Given the description of an element on the screen output the (x, y) to click on. 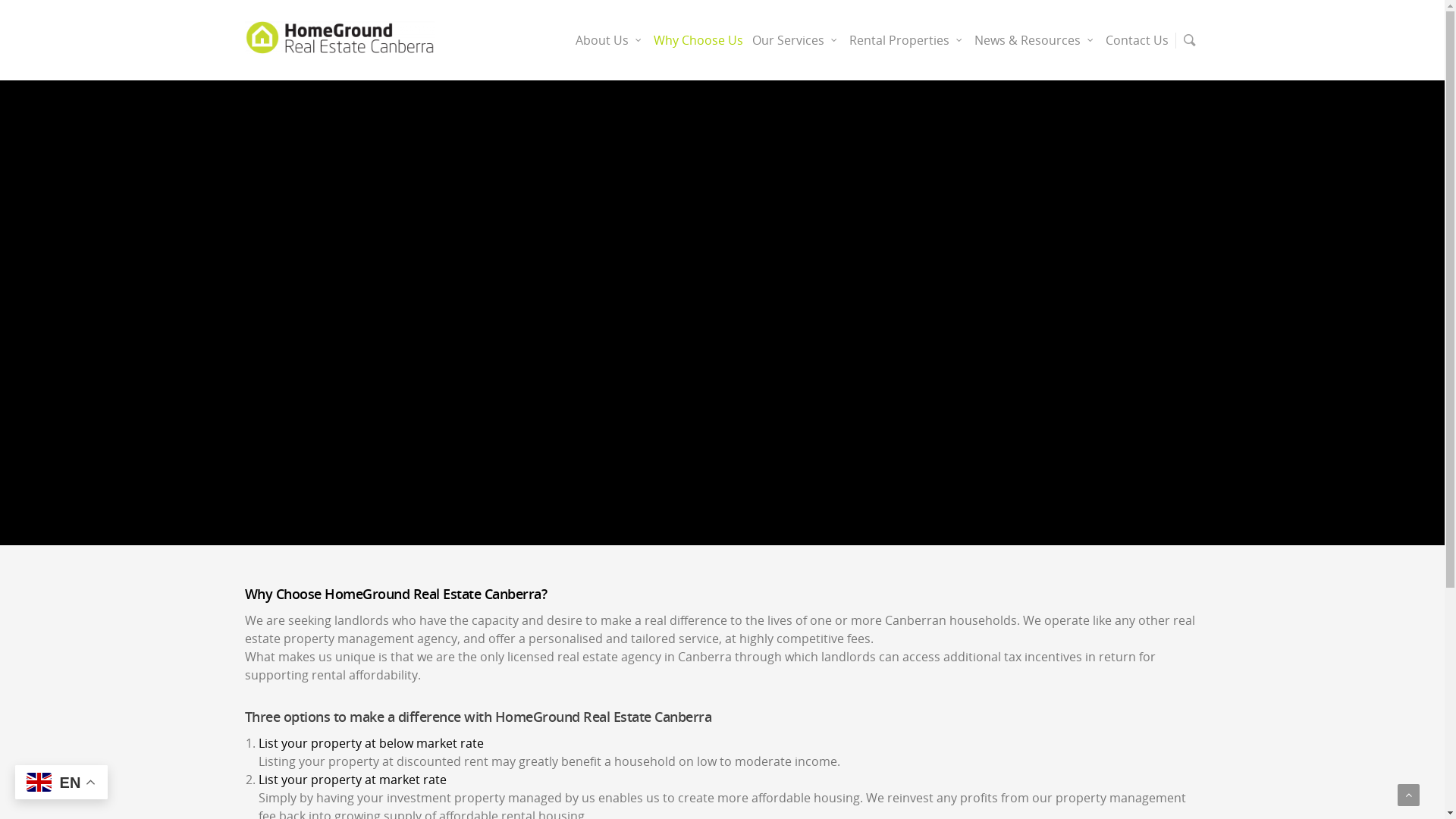
Rental Properties Element type: text (907, 50)
Contact Us Element type: text (1136, 50)
Why Choose Us Element type: text (697, 50)
About Us Element type: text (609, 50)
News & Resources Element type: text (1035, 50)
Our Services Element type: text (796, 50)
